Given the description of an element on the screen output the (x, y) to click on. 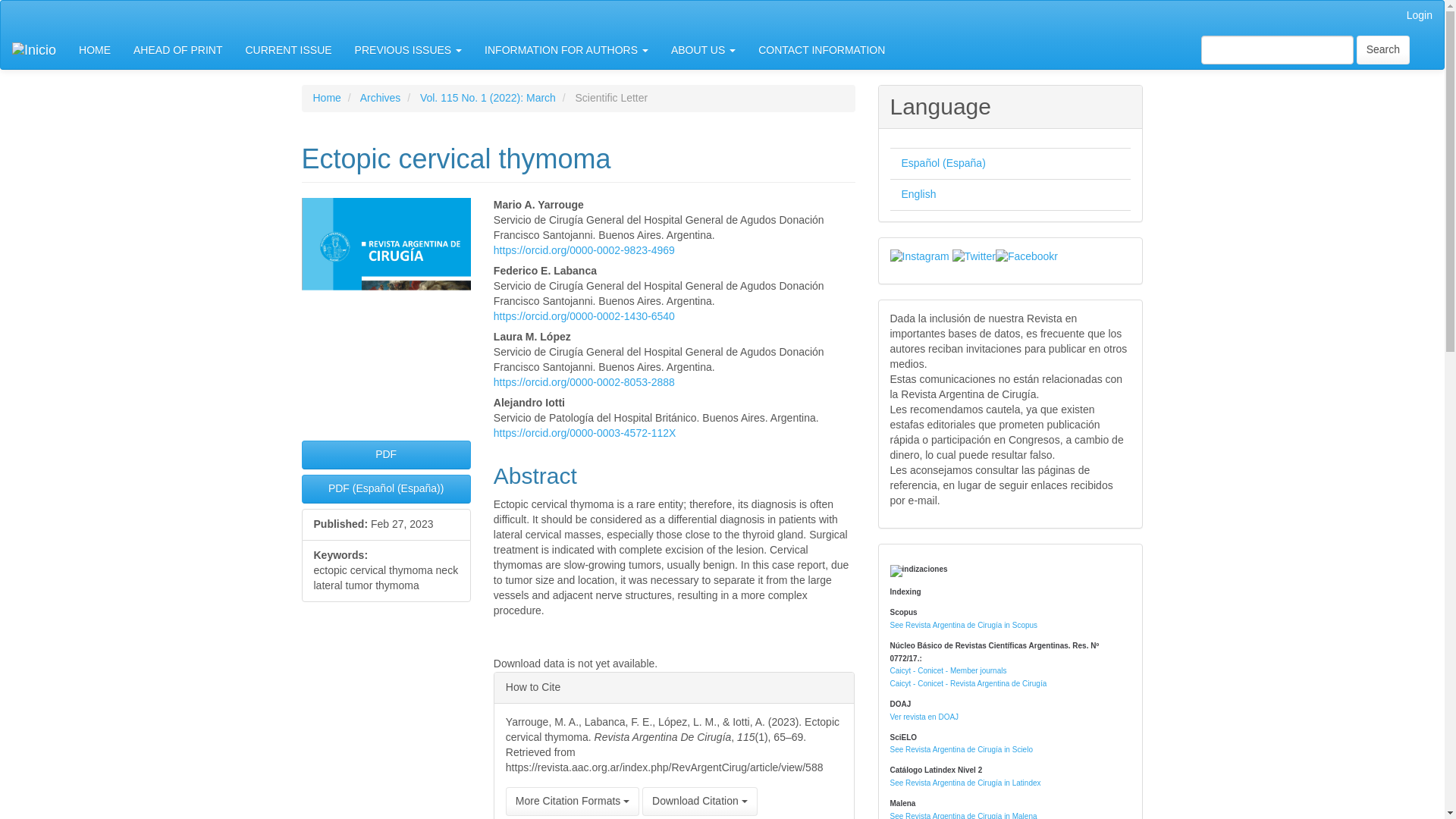
INFORMATION FOR AUTHORS (566, 49)
Twitter (973, 256)
ABOUT US (702, 49)
More Citation Formats (572, 801)
Archives (380, 97)
Search (1382, 50)
Caicyt - Conicet - Member journals (948, 670)
PDF (385, 454)
AHEAD OF PRINT (177, 49)
Login (1419, 15)
